Given the description of an element on the screen output the (x, y) to click on. 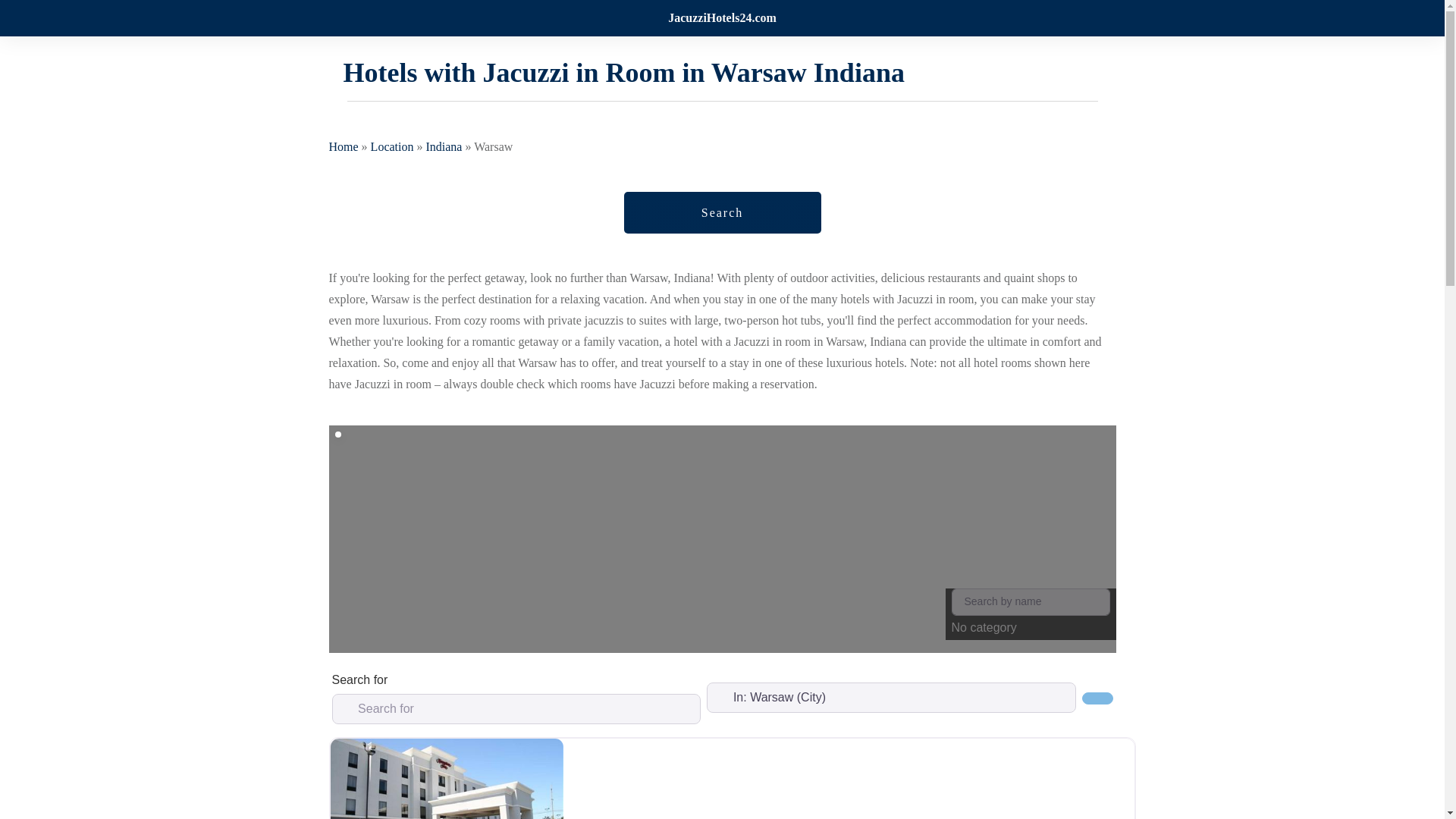
No category (1029, 614)
Search (722, 212)
JacuzziHotels24.com (722, 17)
Home (343, 146)
Search (1096, 698)
Location (392, 146)
Indiana (443, 146)
